Given the description of an element on the screen output the (x, y) to click on. 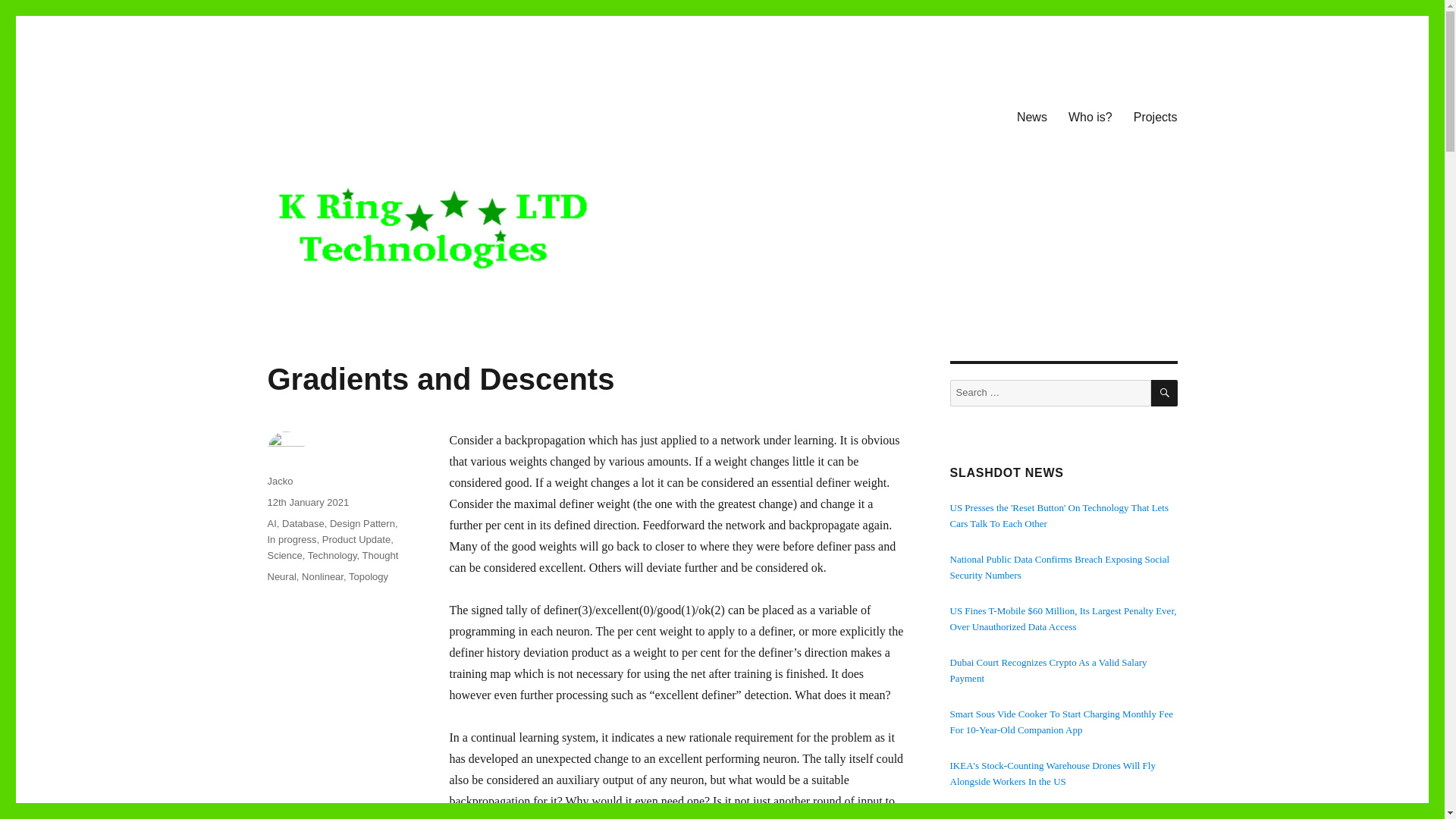
SEARCH (1164, 393)
Nonlinear (322, 576)
Neural (280, 576)
News (1032, 116)
Science (283, 555)
Dubai Court Recognizes Crypto As a Valid Salary Payment (1048, 669)
12th January 2021 (307, 501)
Who is? (1090, 116)
